Given the description of an element on the screen output the (x, y) to click on. 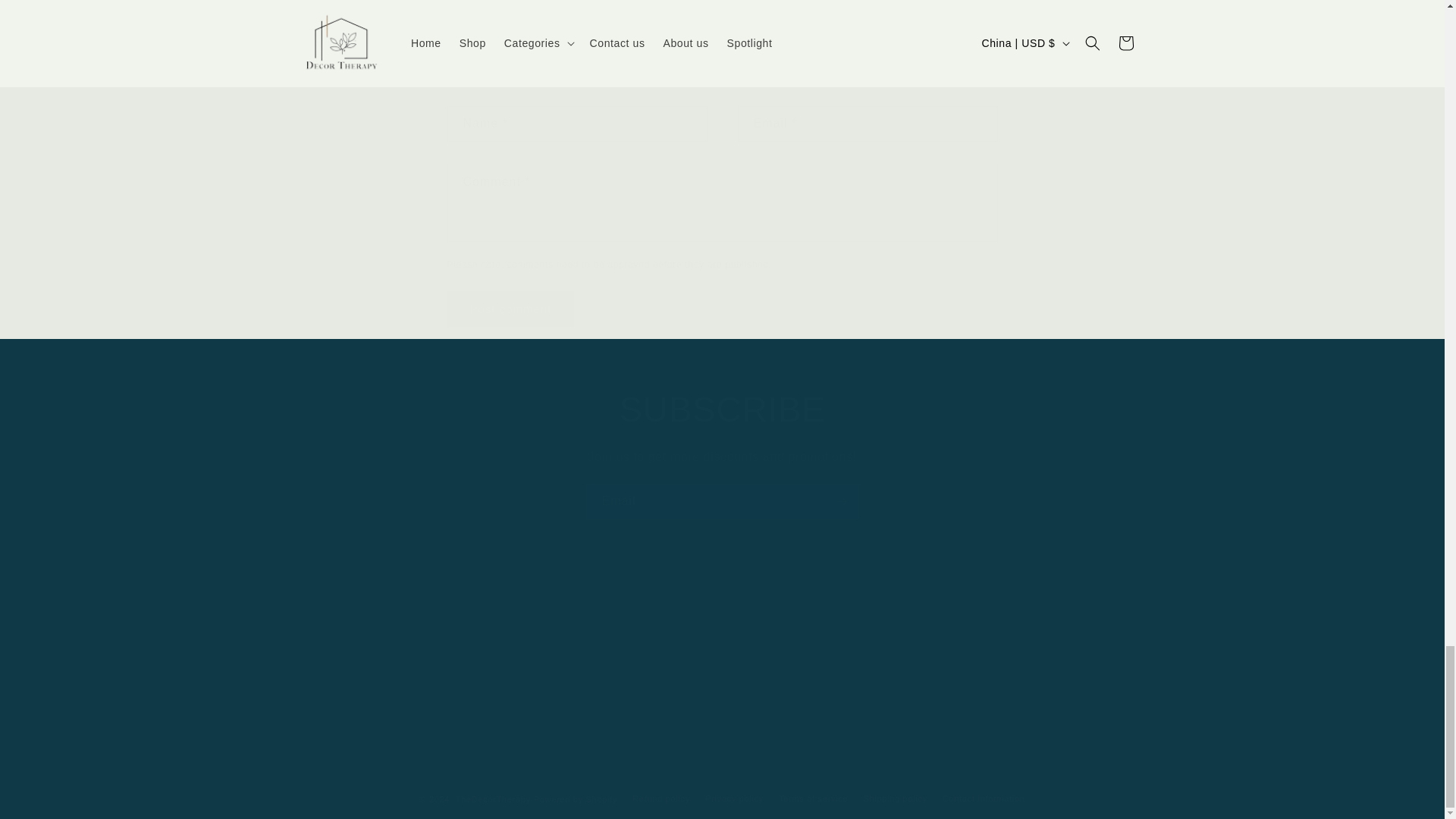
SUBSCRIBE (721, 409)
Email (722, 501)
Post comment (510, 308)
Join us to get more discounts and promotions! (722, 457)
